Given the description of an element on the screen output the (x, y) to click on. 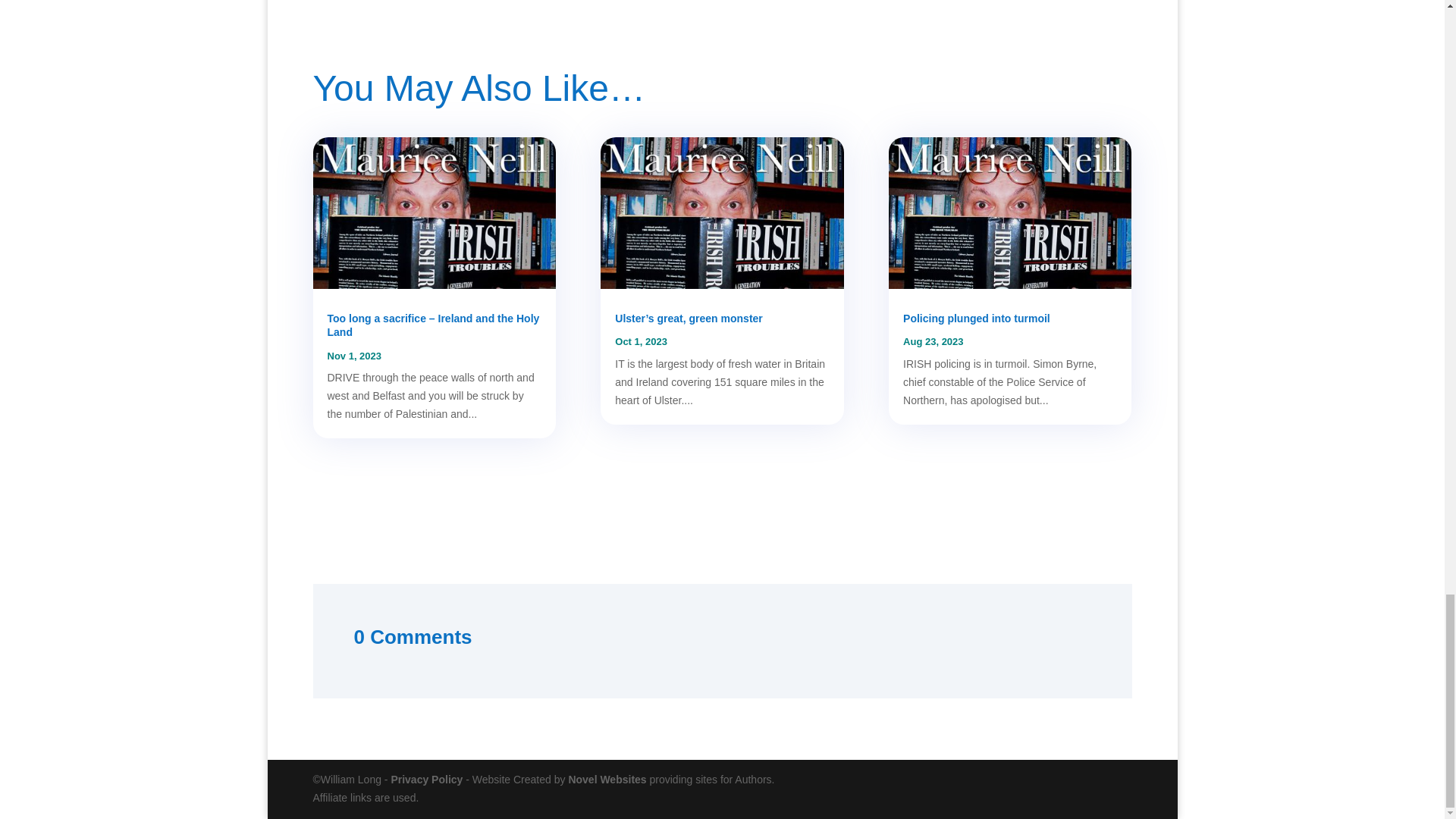
Policing plunged into turmoil (975, 318)
Privacy Policy (426, 779)
Novel Websites (606, 779)
